Given the description of an element on the screen output the (x, y) to click on. 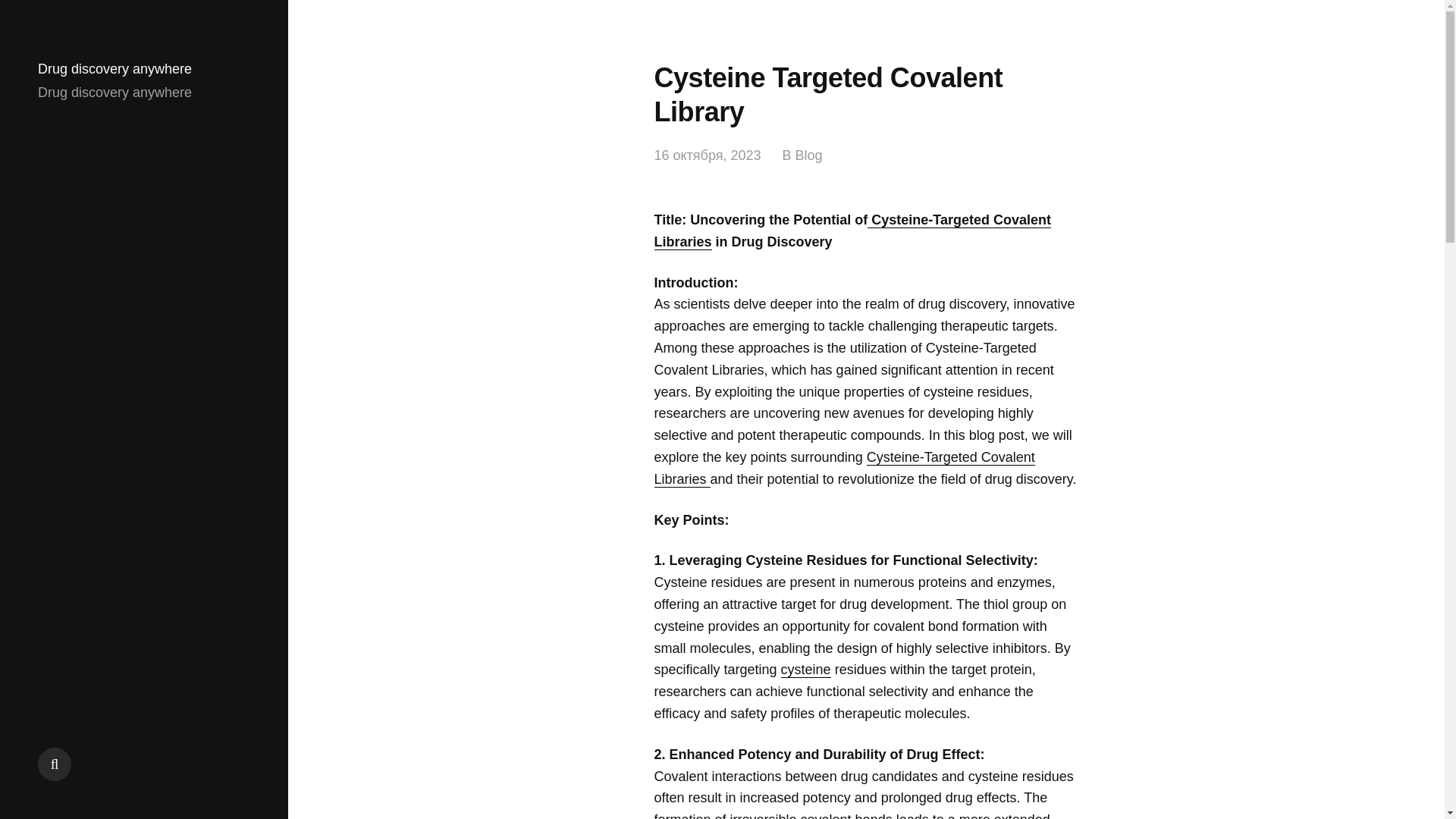
Cysteine-Targeted Covalent Libraries (851, 231)
cysteine (805, 669)
Drug discovery anywhere (114, 68)
Blog (808, 155)
Cysteine-Targeted Covalent Libraries (843, 468)
